Given the description of an element on the screen output the (x, y) to click on. 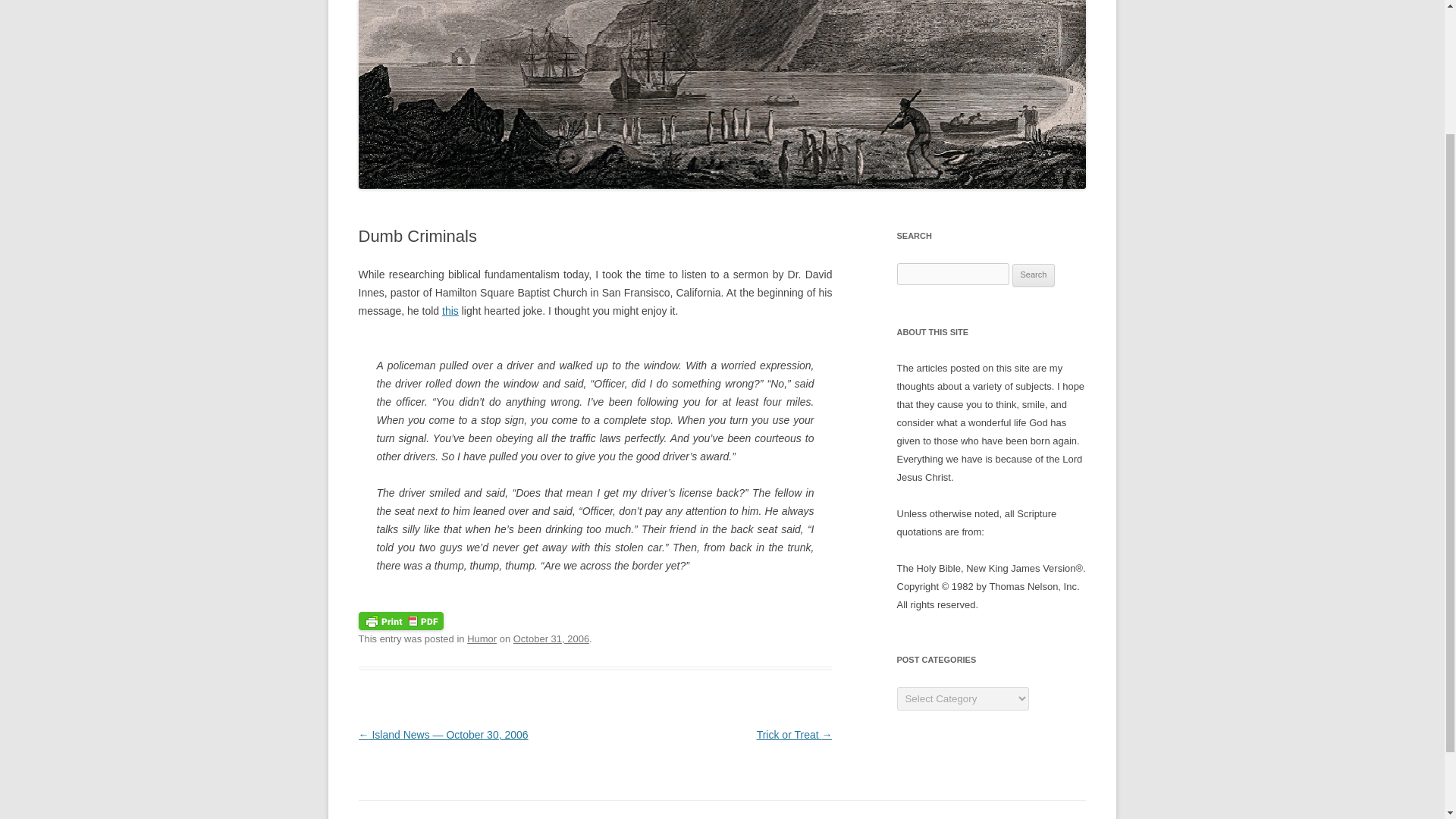
October 31, 2006 (551, 638)
Humor (481, 638)
Search (1033, 274)
9:12 pm (551, 638)
Search (1033, 274)
this (450, 310)
